Given the description of an element on the screen output the (x, y) to click on. 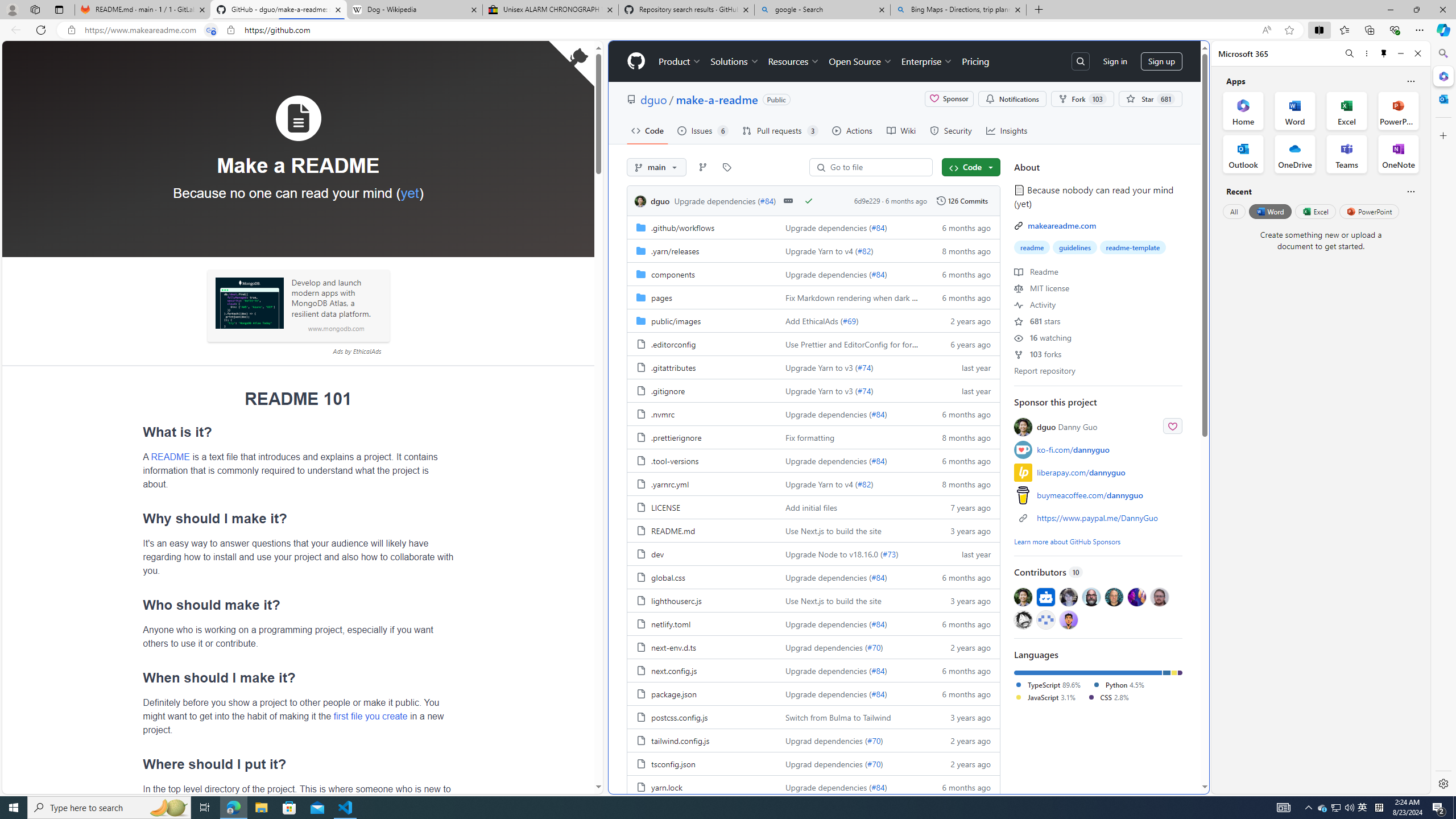
package.json, (File) (701, 693)
AutomationID: folder-row-17 (813, 623)
README (170, 456)
103 forks (1037, 353)
@mstrzele (1045, 619)
package.json, (File) (673, 693)
Enterprise (927, 60)
LICENSE, (File) (665, 506)
AutomationID: folder-row-13 (813, 530)
#84 (877, 786)
Wiki (900, 130)
Tabs in split screen (210, 29)
